Given the description of an element on the screen output the (x, y) to click on. 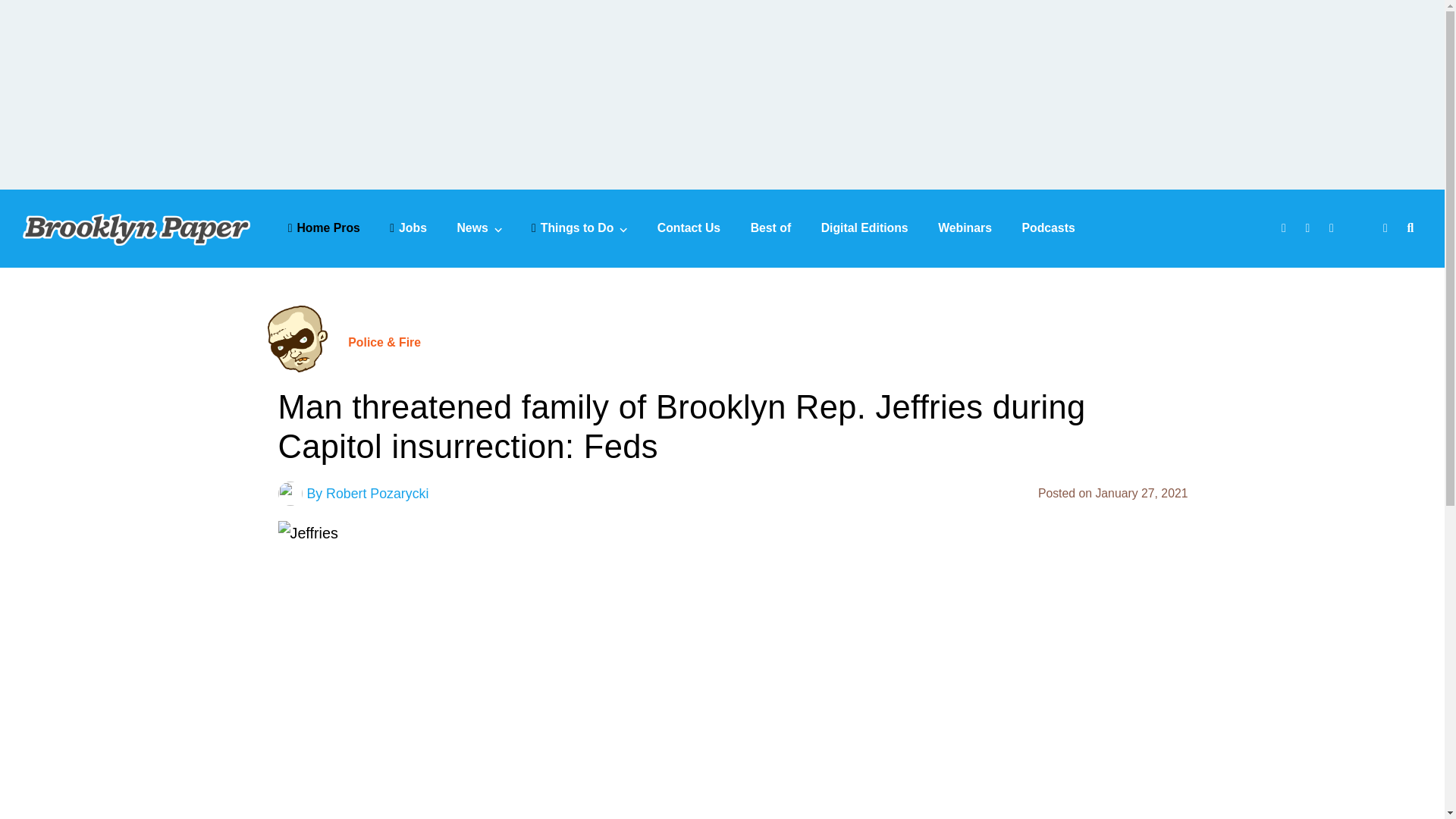
Posts by Robert Pozarycki (377, 493)
Podcasts (1048, 227)
News (478, 227)
Jobs (408, 227)
Home Pros (323, 227)
Best of (771, 227)
Contact Us (689, 227)
Things to Do (579, 227)
Digital Editions (864, 227)
Webinars (964, 227)
